Given the description of an element on the screen output the (x, y) to click on. 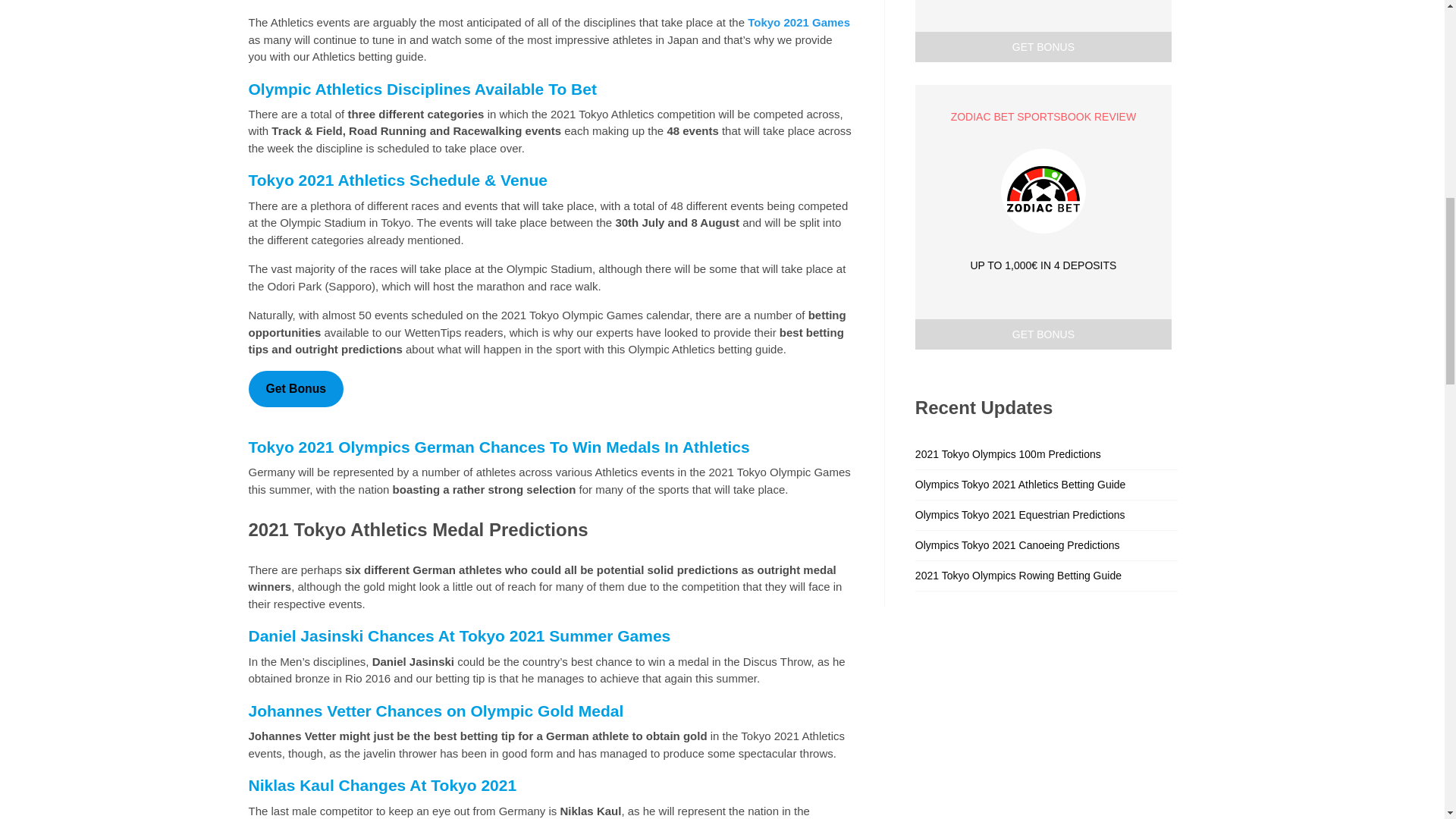
Tokyo 2021 Games (799, 21)
Get Bonus (295, 389)
GET BONUS (1043, 46)
